Given the description of an element on the screen output the (x, y) to click on. 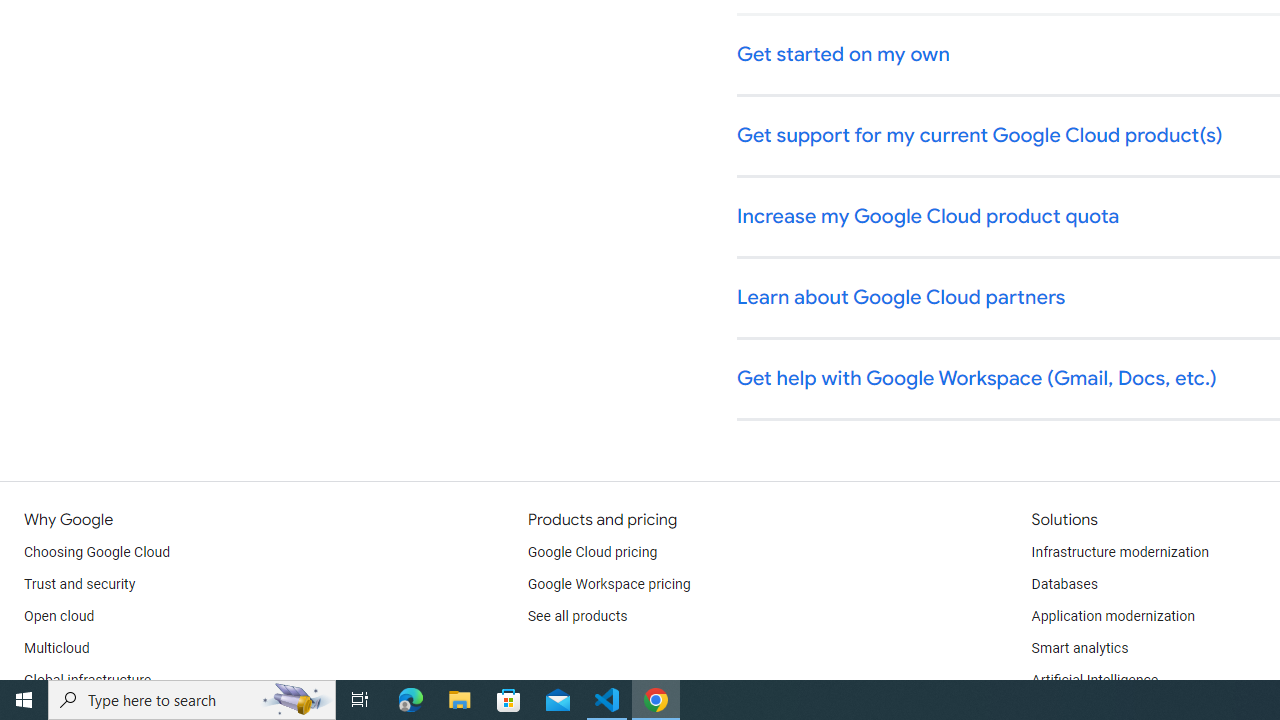
Choosing Google Cloud (97, 552)
Trust and security (79, 584)
Artificial Intelligence (1094, 680)
Google Cloud pricing (592, 552)
Google Workspace pricing (609, 584)
Smart analytics (1079, 648)
Global infrastructure (88, 680)
Databases (1064, 584)
See all products (577, 616)
Multicloud (56, 648)
Open cloud (59, 616)
Application modernization (1112, 616)
Infrastructure modernization (1119, 552)
